Given the description of an element on the screen output the (x, y) to click on. 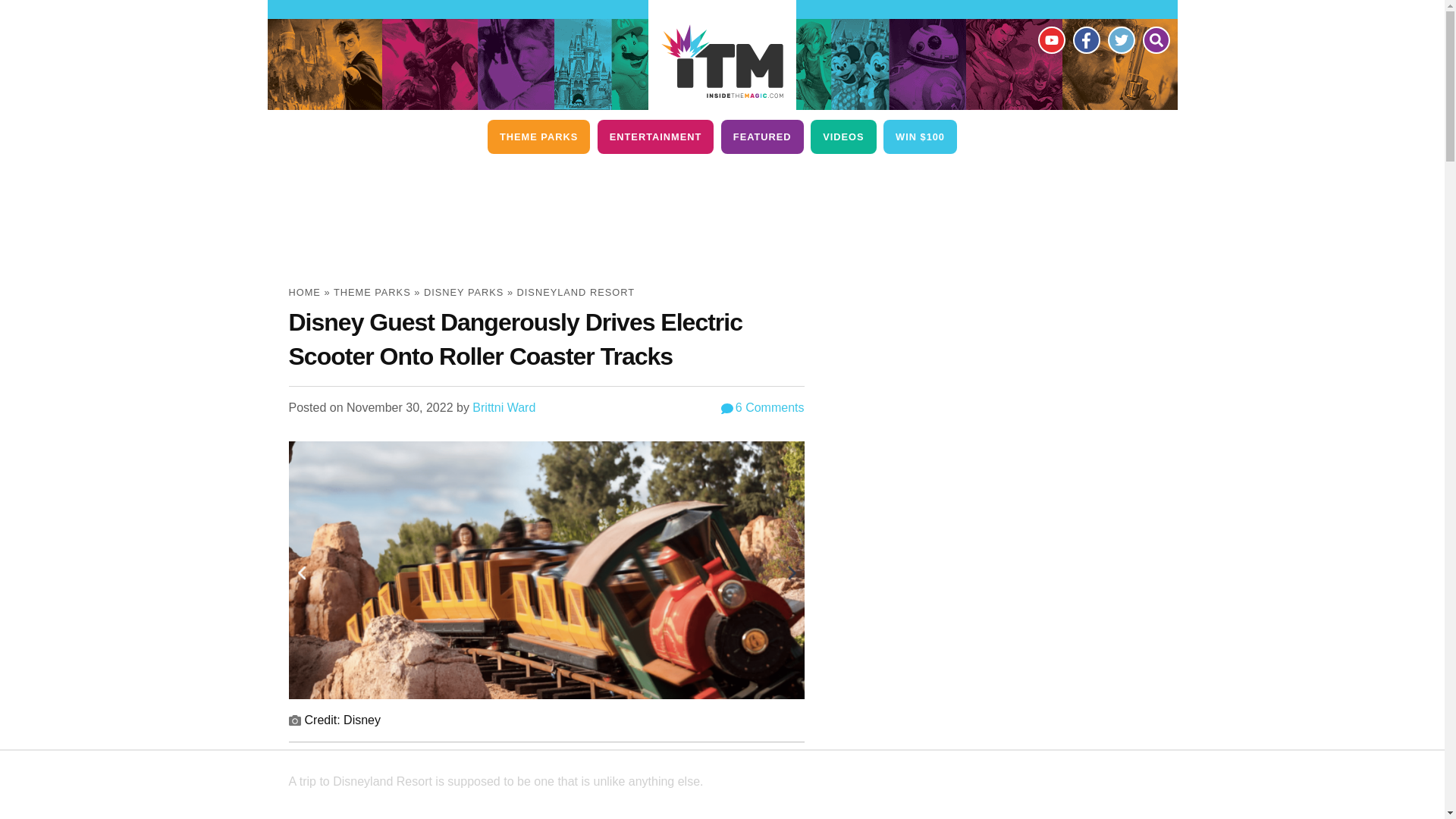
THEME PARKS (538, 136)
YouTube (1050, 40)
FEATURED (761, 136)
Search (1155, 40)
Twitter (1120, 40)
Facebook (1085, 40)
ENTERTAINMENT (655, 136)
